Given the description of an element on the screen output the (x, y) to click on. 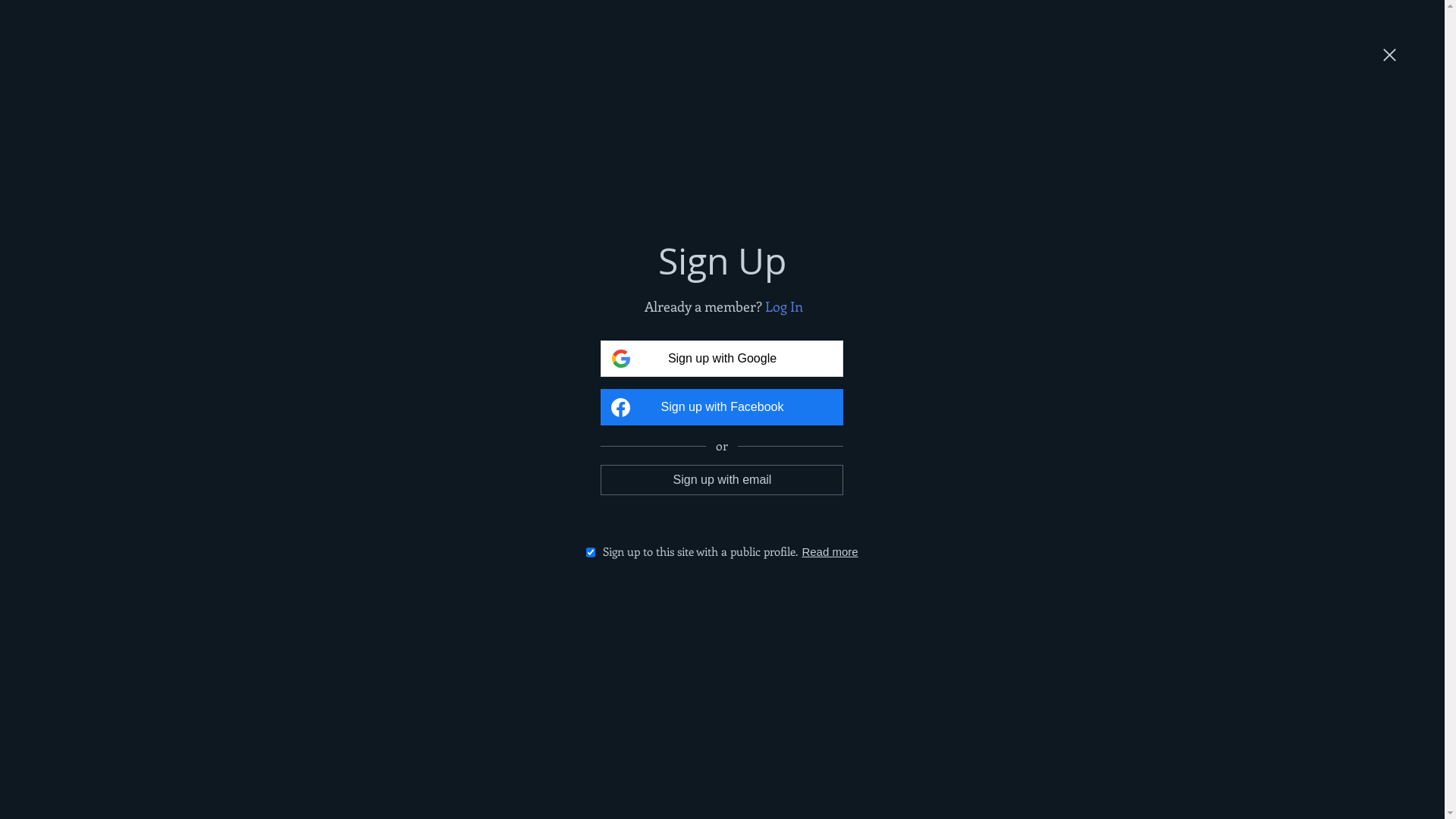
Log In Element type: text (784, 306)
Read more Element type: text (829, 551)
Sign up with Google Element type: text (721, 358)
Sign up with email Element type: text (721, 479)
Sign up with Facebook Element type: text (721, 407)
